Given the description of an element on the screen output the (x, y) to click on. 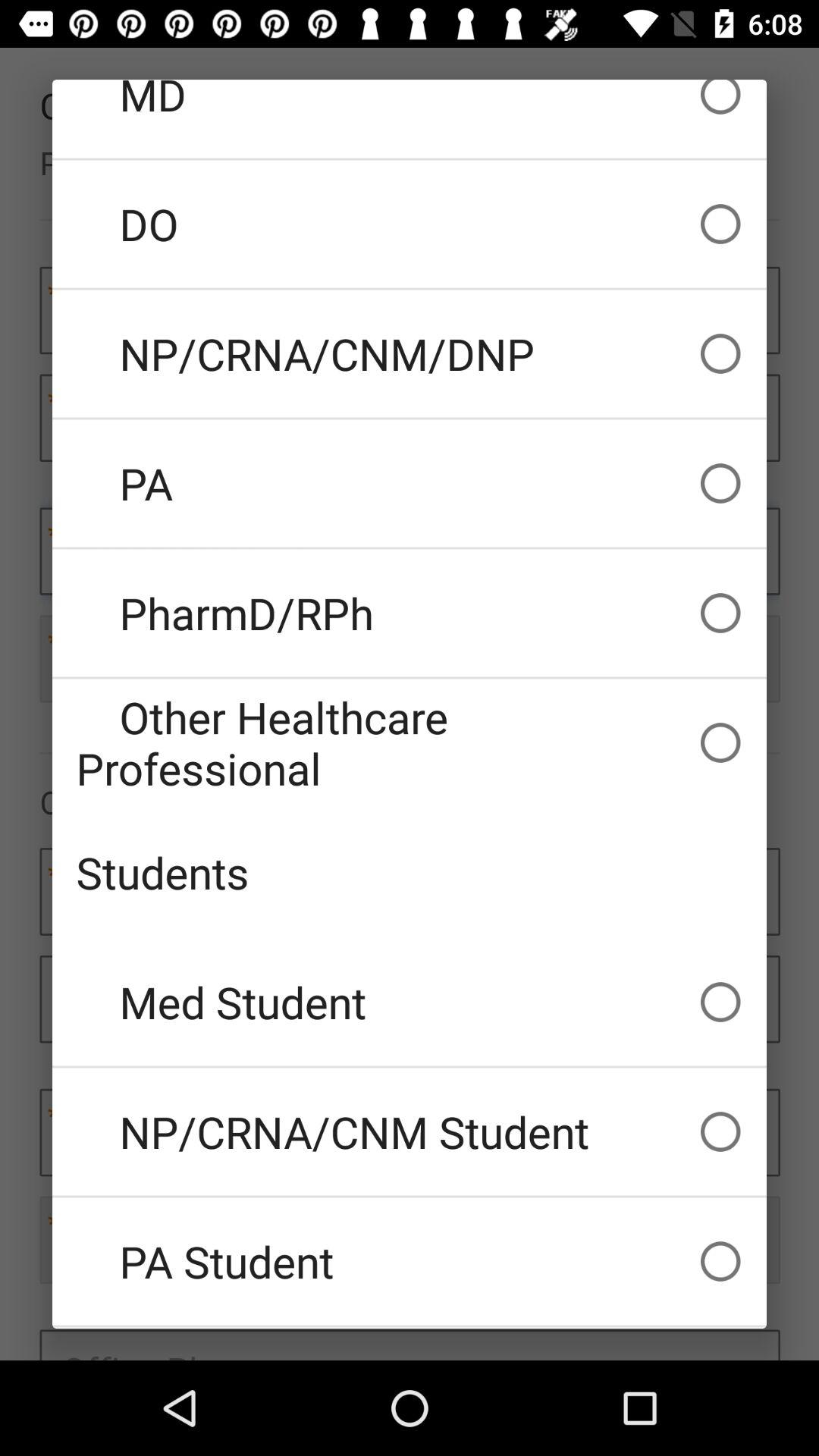
choose item below     md icon (409, 223)
